Given the description of an element on the screen output the (x, y) to click on. 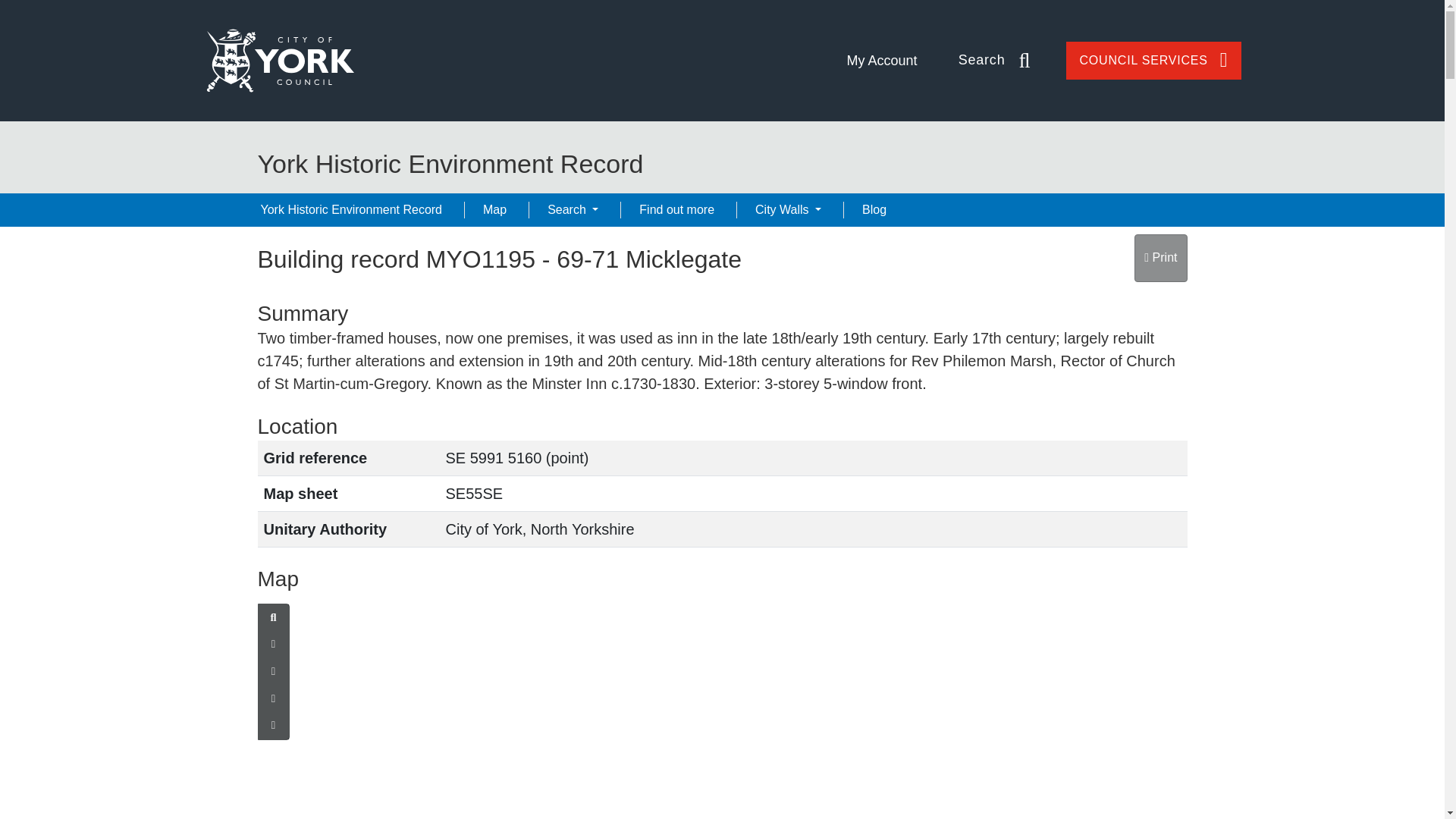
Find out more (676, 209)
Search (272, 617)
My Account (882, 60)
Search (996, 60)
Base layers (272, 671)
York Historic Environment Record (351, 209)
Map (494, 209)
Map layers (272, 644)
Info (272, 698)
Blog (873, 209)
City of York Council Home Page (279, 60)
Print (1160, 257)
Search (572, 209)
Record list (272, 725)
COUNCIL SERVICES (1152, 60)
